Given the description of an element on the screen output the (x, y) to click on. 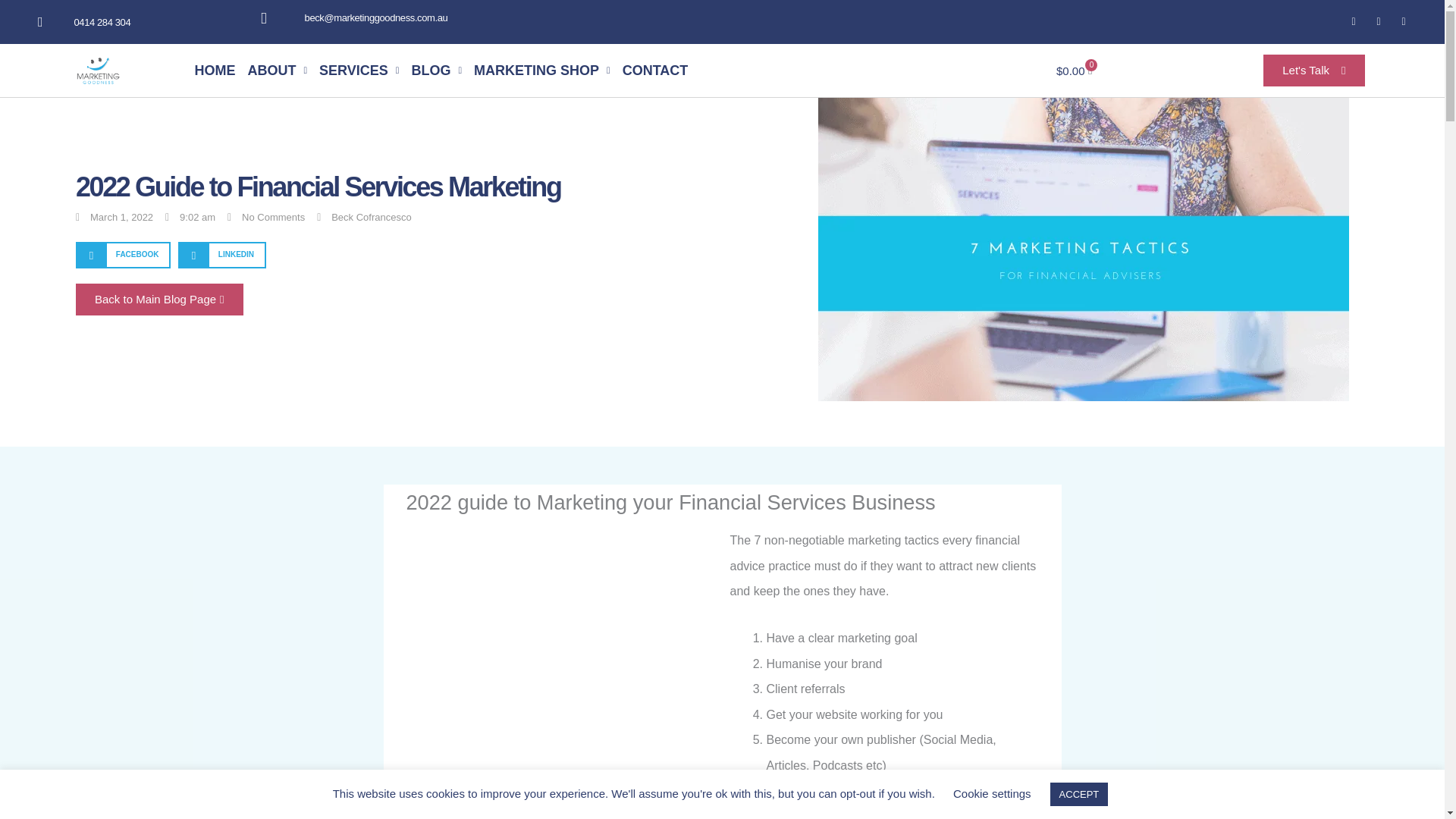
HOME (214, 70)
ABOUT (277, 70)
0414 284 304 (126, 21)
SERVICES (358, 70)
Instagram (1378, 21)
BLOG (435, 70)
Facebook-f (1353, 21)
CONTACT (654, 70)
MARKETING SHOP (541, 70)
Linkedin (1403, 21)
